Given the description of an element on the screen output the (x, y) to click on. 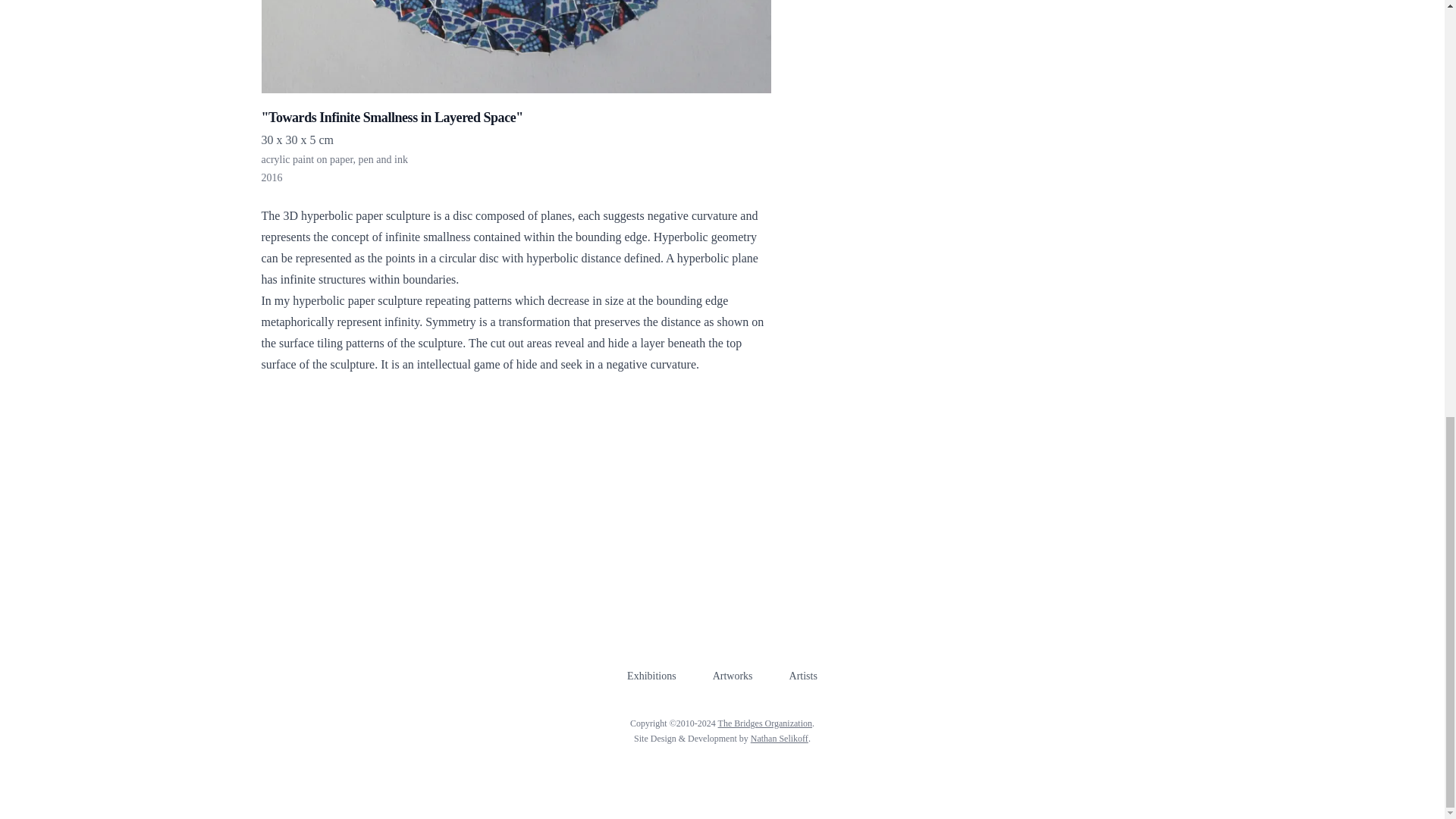
Artists (802, 675)
Artworks (732, 675)
Nathan Selikoff (779, 738)
The Bridges Organization (764, 723)
Exhibitions (652, 675)
